Given the description of an element on the screen output the (x, y) to click on. 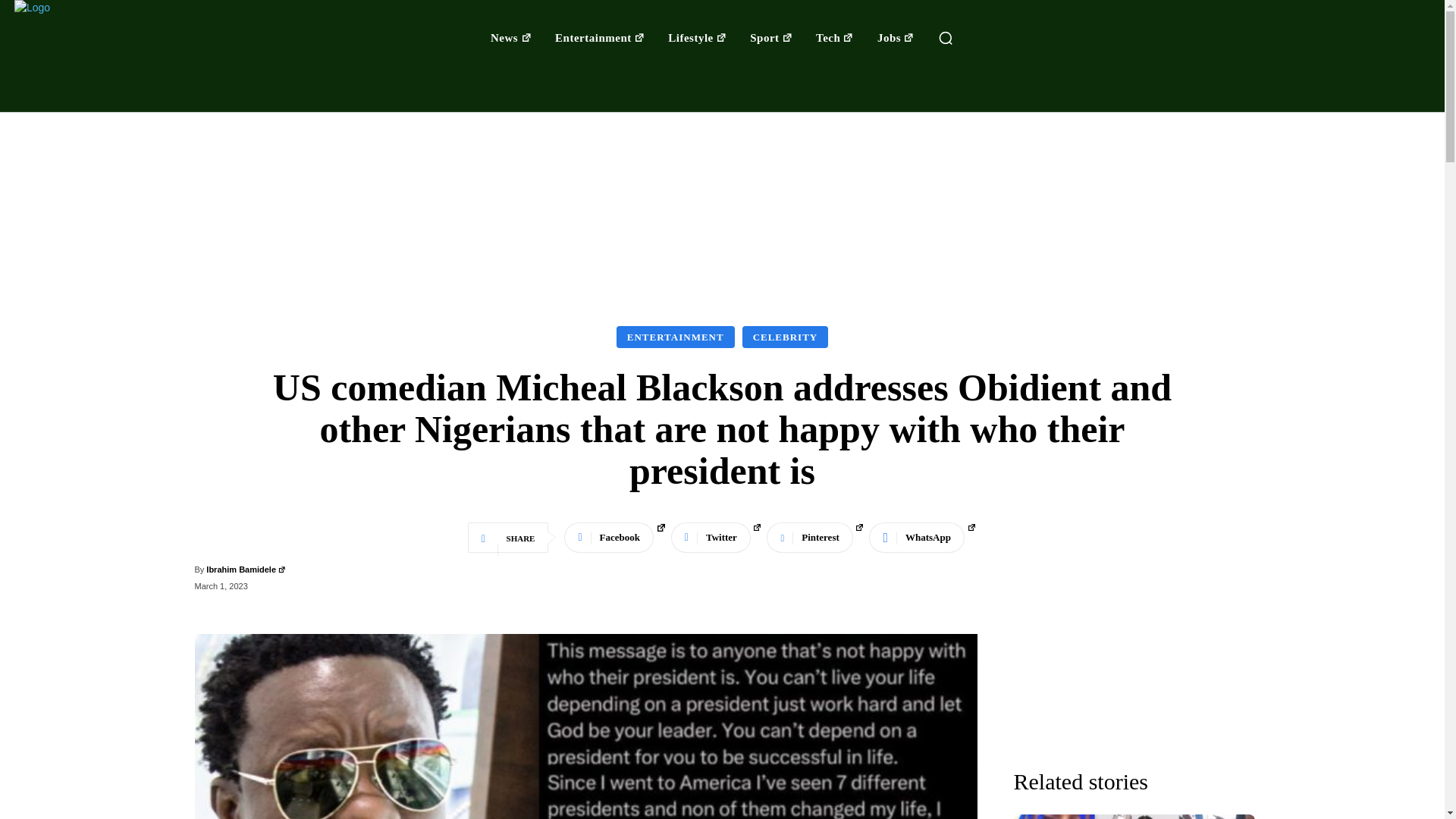
Lifestyle (698, 38)
Entertainment (599, 38)
